Given the description of an element on the screen output the (x, y) to click on. 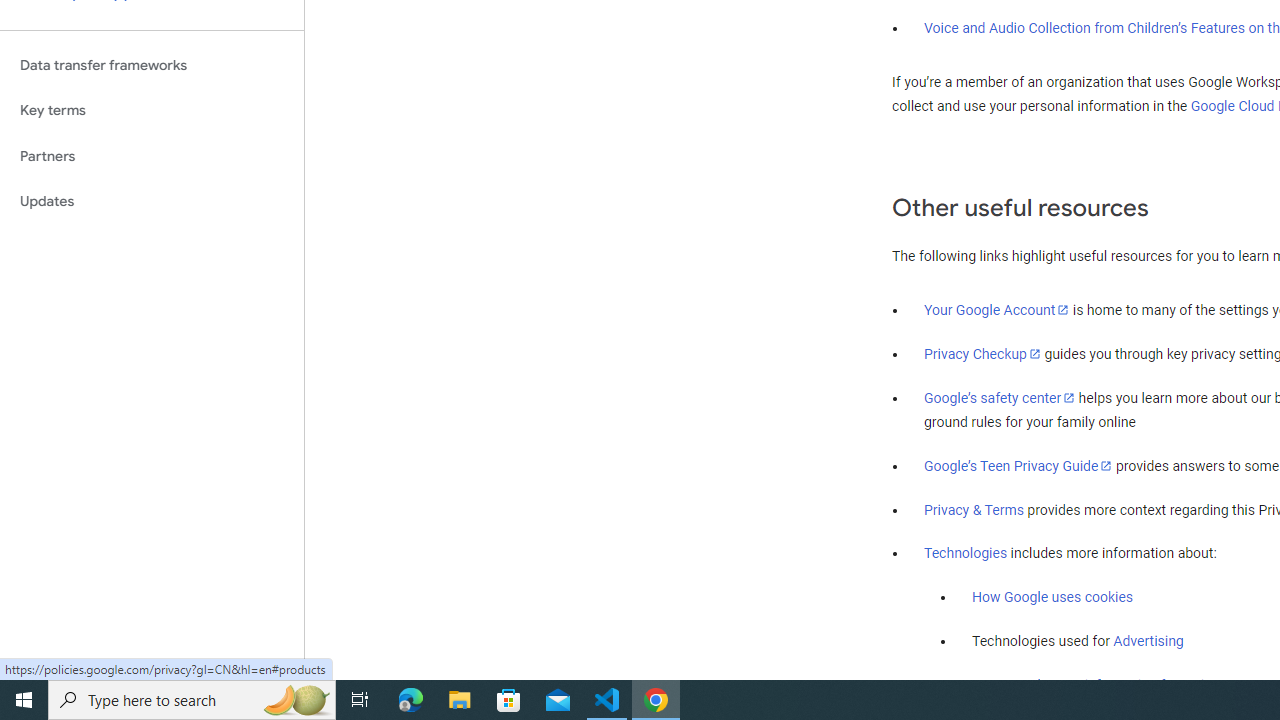
How Google uses cookies (1052, 597)
Your Google Account (997, 309)
Privacy Checkup (982, 353)
Advertising (1148, 641)
